Given the description of an element on the screen output the (x, y) to click on. 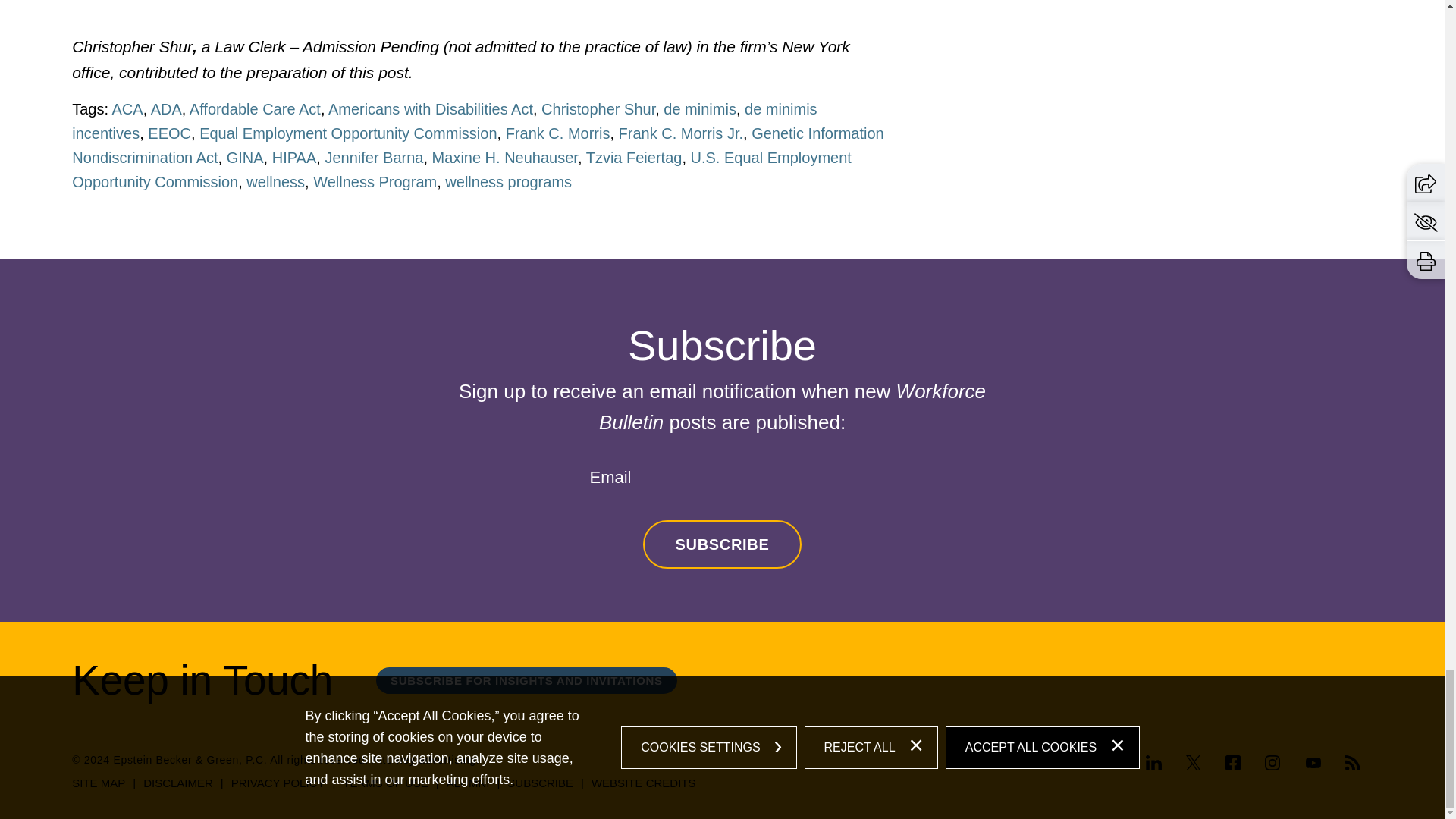
Equal Employment Opportunity Commission (347, 133)
Americans with Disabilities Act (430, 108)
Genetic Information Nondiscrimination Act (477, 145)
ACA (127, 108)
Twitter (1193, 762)
Twitter (1192, 764)
RSS (1352, 762)
de minimis (699, 108)
ADA (166, 108)
Instagram (1273, 762)
Christopher Shur (598, 108)
Affordable Care Act (254, 108)
Facebook (1232, 764)
Youtube (1313, 762)
Linkedin (1159, 764)
